Given the description of an element on the screen output the (x, y) to click on. 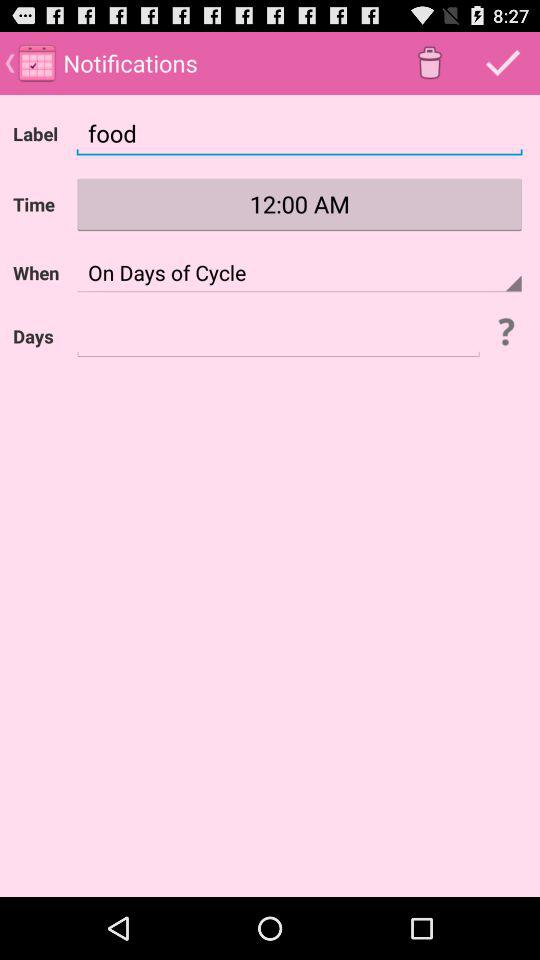
open more information (505, 331)
